Given the description of an element on the screen output the (x, y) to click on. 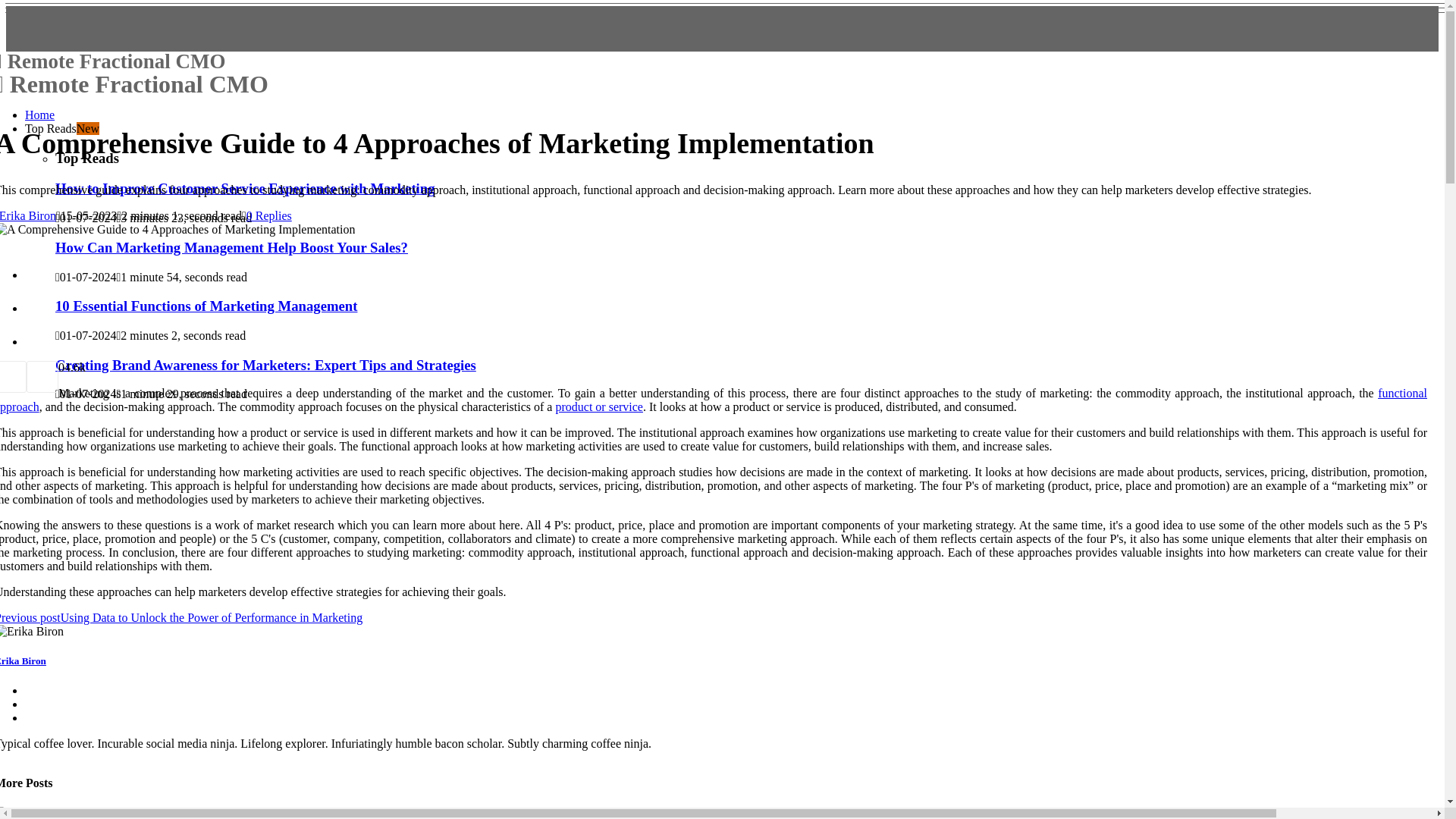
0 Replies (269, 215)
Erika Biron (23, 660)
10 Essential Functions of Marketing Management (205, 305)
How to Improve Customer Service Experience with Marketing (245, 188)
Top ReadsNew (61, 128)
product or service (238, 73)
How Can Marketing Management Help Boost Your Sales? (598, 406)
Home (231, 247)
